Given the description of an element on the screen output the (x, y) to click on. 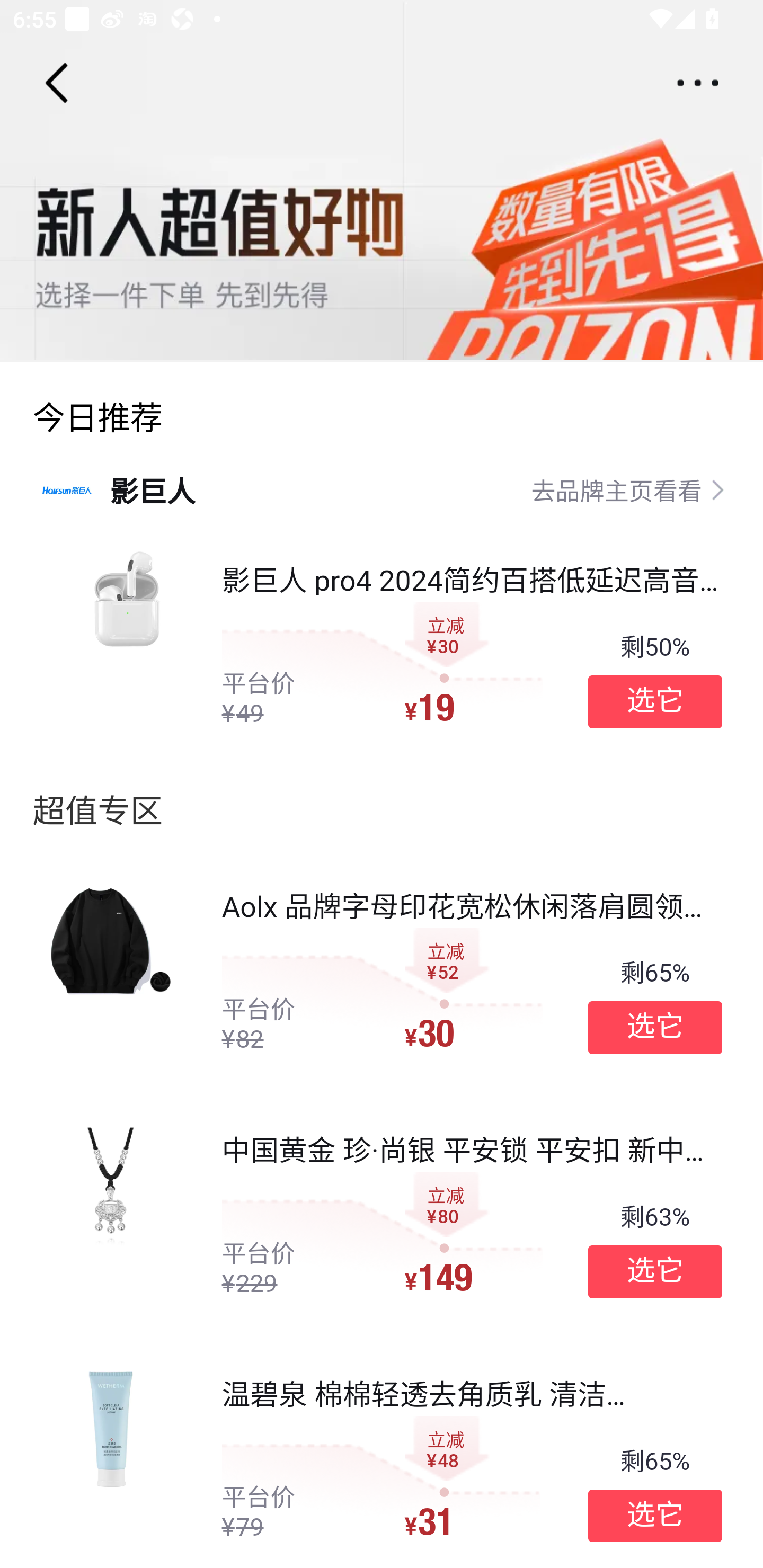
影巨人去品牌主页看看 (381, 489)
选它 (654, 701)
选它 (654, 1027)
选它 (654, 1271)
选它 (654, 1515)
